Given the description of an element on the screen output the (x, y) to click on. 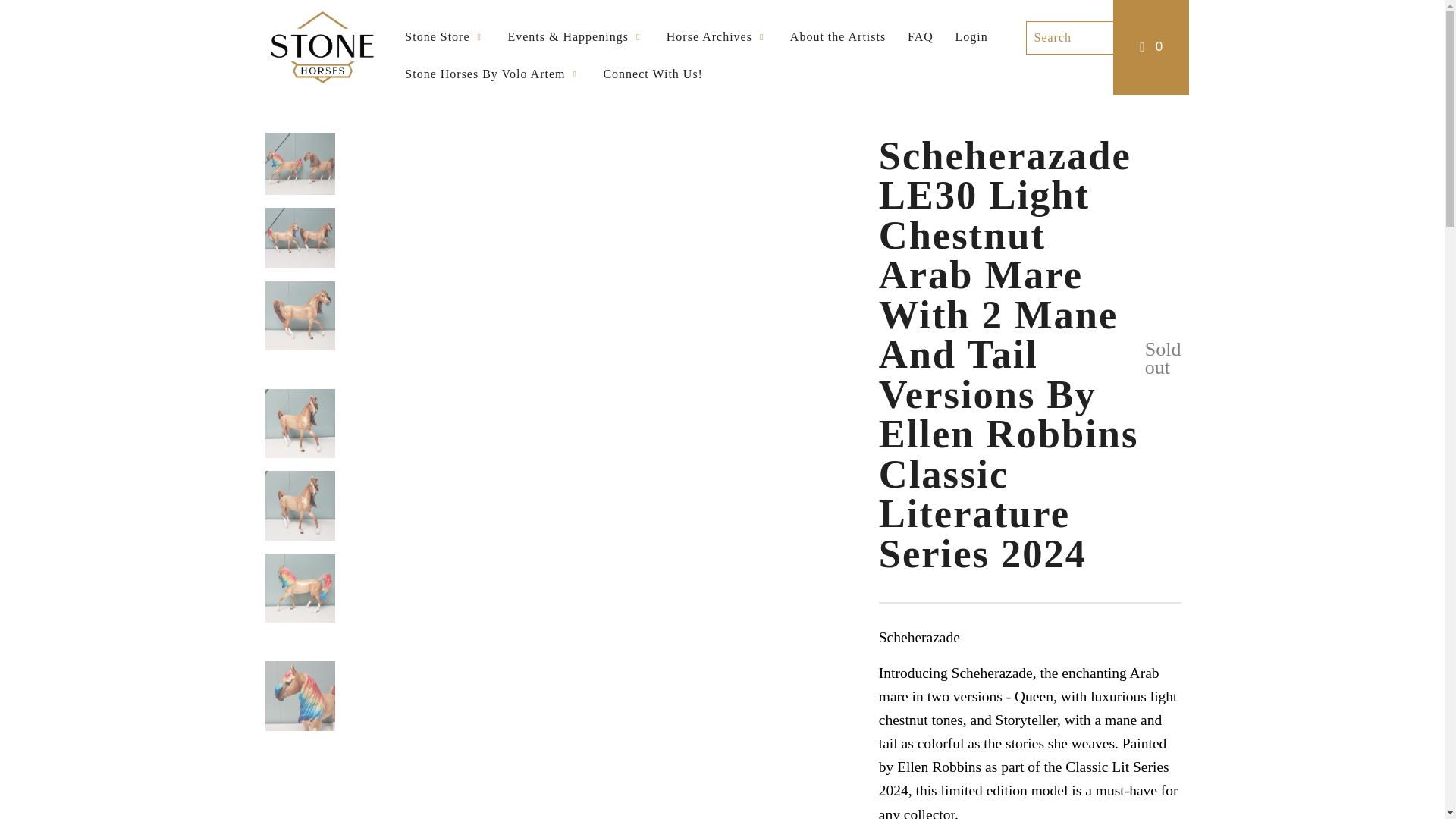
Stone Horses (338, 47)
